Given the description of an element on the screen output the (x, y) to click on. 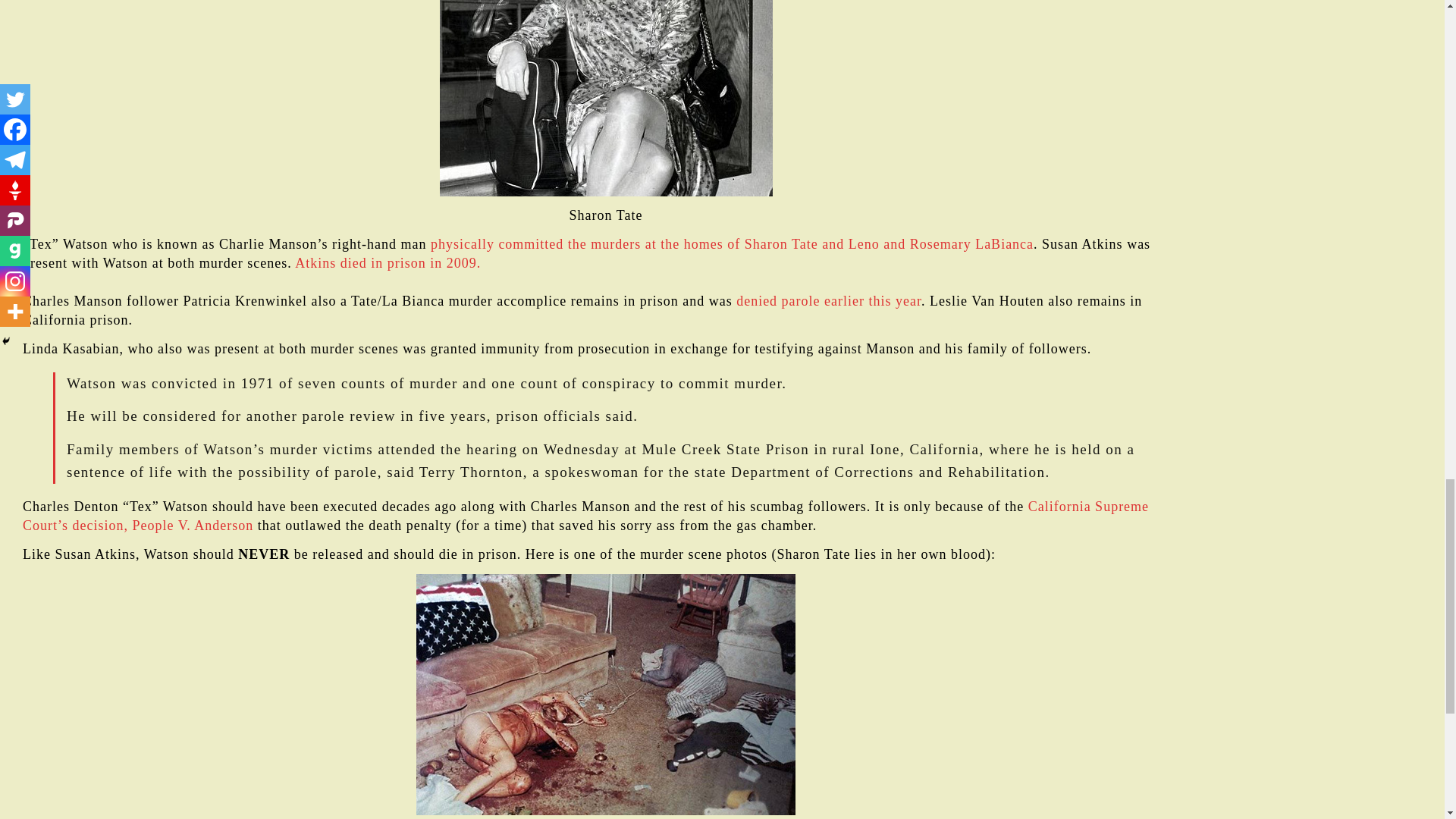
Atkins died in prison in 2009. (387, 263)
denied parole earlier this year (828, 300)
